Given the description of an element on the screen output the (x, y) to click on. 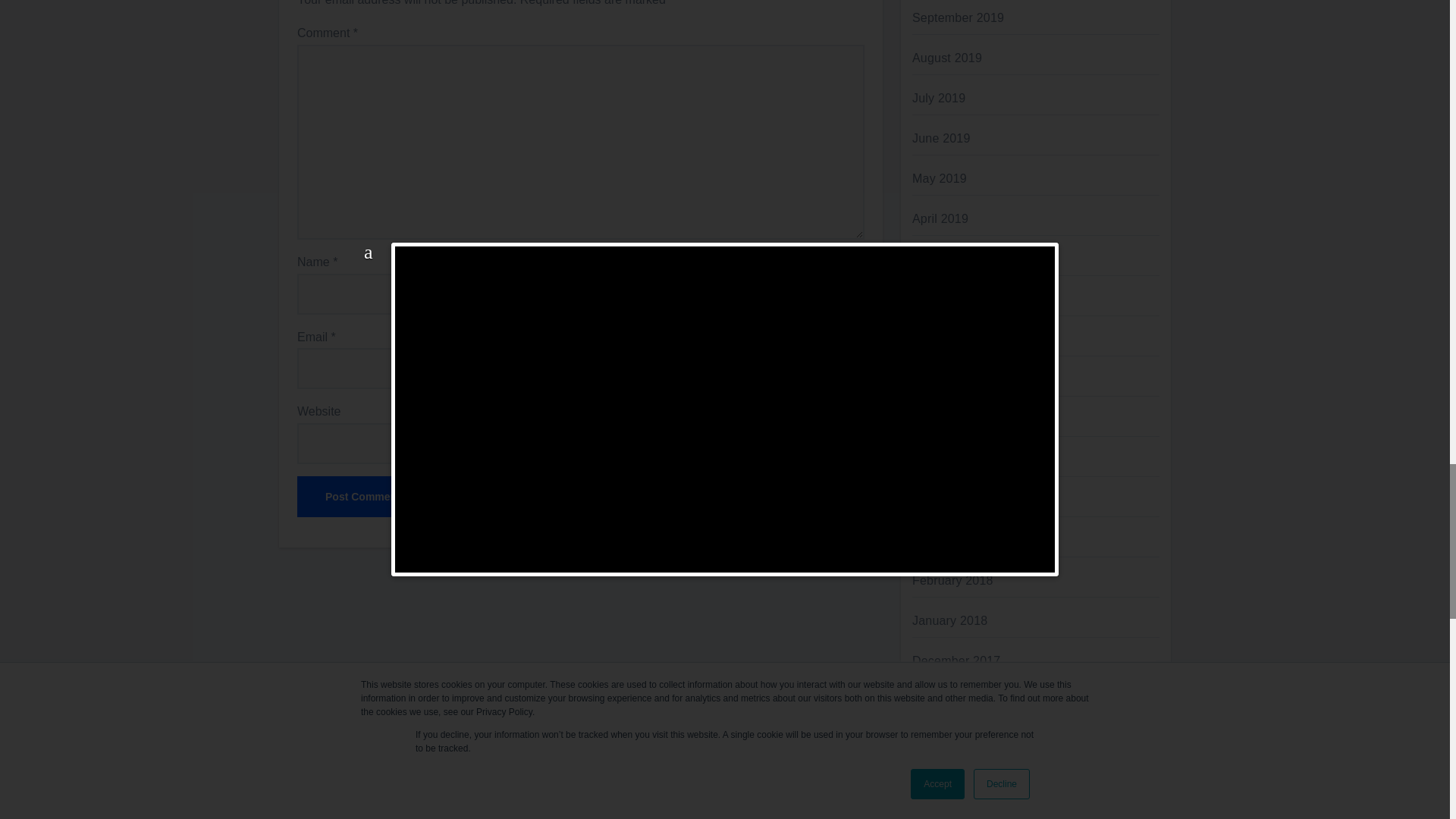
Post Comment (362, 495)
